Given the description of an element on the screen output the (x, y) to click on. 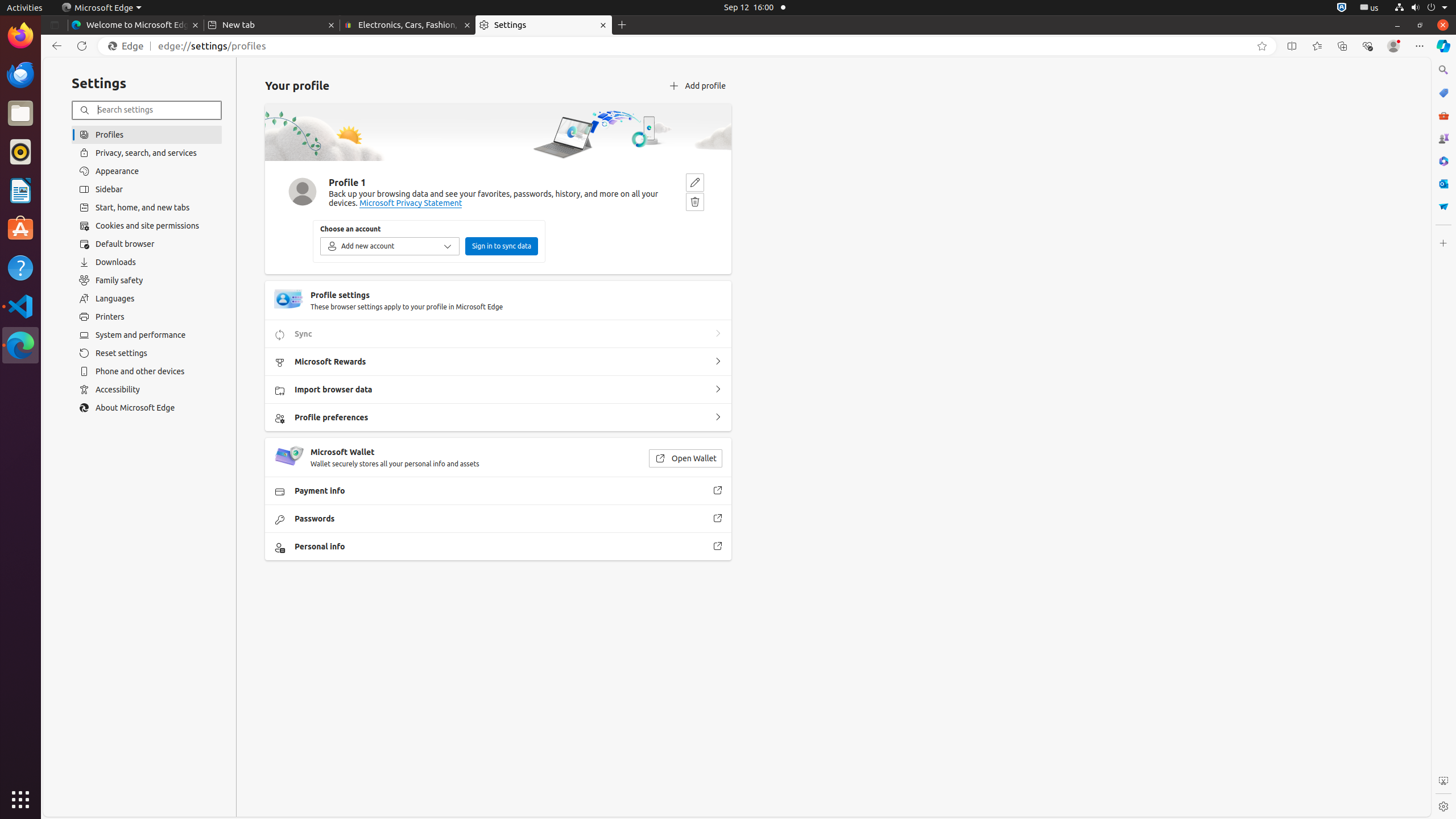
Sign in to sync data Element type: push-button (501, 246)
Sync Element type: push-button (717, 333)
Privacy, search, and services Element type: tree-item (146, 152)
Delete Element type: push-button (694, 201)
Browser essentials Element type: push-button (1366, 45)
